Given the description of an element on the screen output the (x, y) to click on. 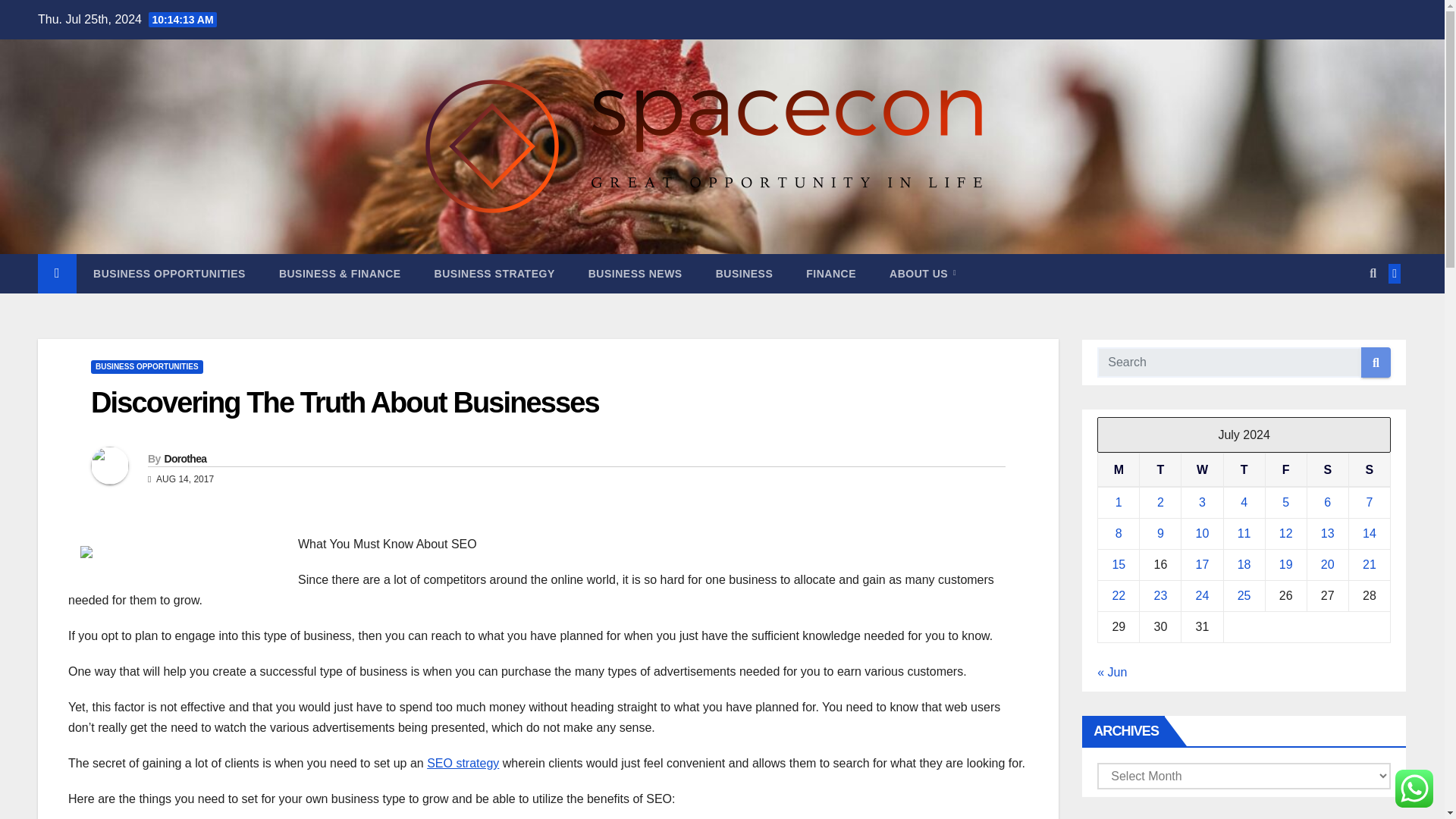
ABOUT US (922, 273)
BUSINESS OPPORTUNITIES (169, 273)
Business Strategy (494, 273)
Permalink to: Discovering The Truth About Businesses (344, 402)
About Us (922, 273)
BUSINESS (744, 273)
Business News (635, 273)
FINANCE (830, 273)
Business Opportunities (169, 273)
Business (744, 273)
Finance (830, 273)
BUSINESS OPPORTUNITIES (146, 366)
BUSINESS NEWS (635, 273)
Discovering The Truth About Businesses (344, 402)
BUSINESS STRATEGY (494, 273)
